Given the description of an element on the screen output the (x, y) to click on. 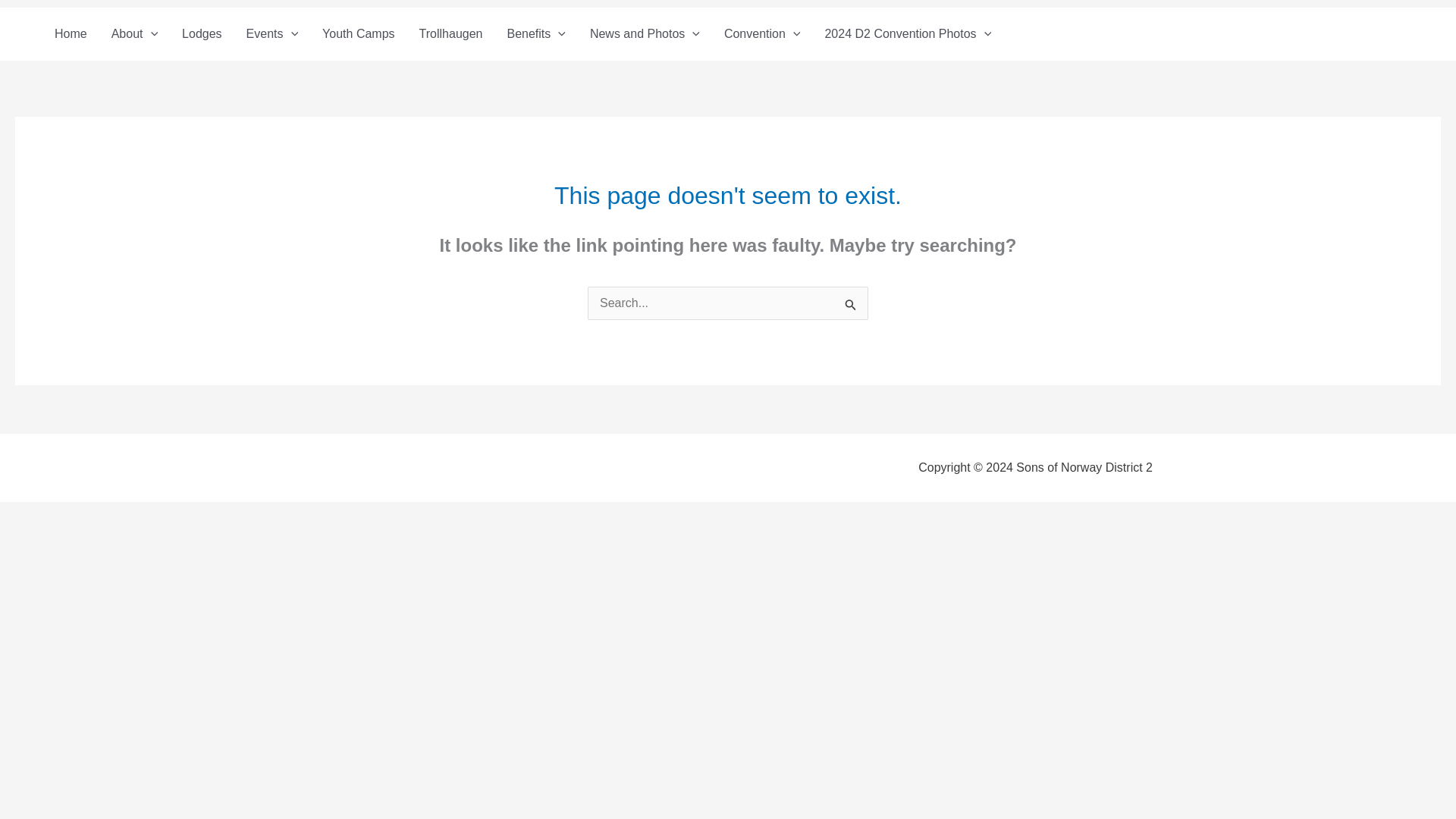
Youth Camps (358, 33)
Benefits (535, 33)
Lodges (202, 33)
Events (272, 33)
Trollhaugen (451, 33)
About (134, 33)
Convention (761, 33)
News and Photos (644, 33)
Home (70, 33)
